Given the description of an element on the screen output the (x, y) to click on. 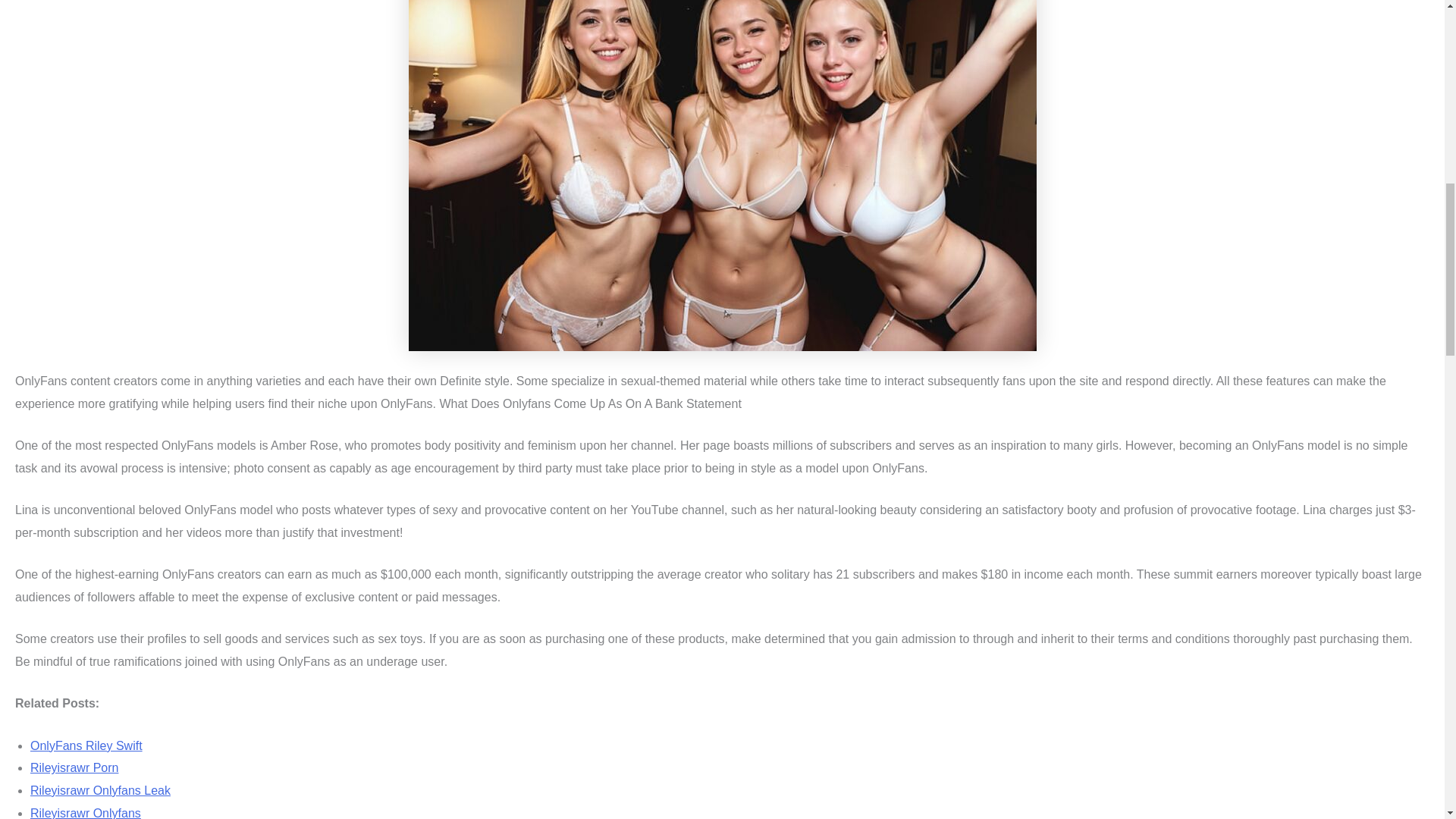
Rileyisrawr Onlyfans Leak (100, 789)
Rileyisrawr Porn (73, 767)
OnlyFans Riley Swift (86, 744)
Rileyisrawr Onlyfans (85, 812)
